Given the description of an element on the screen output the (x, y) to click on. 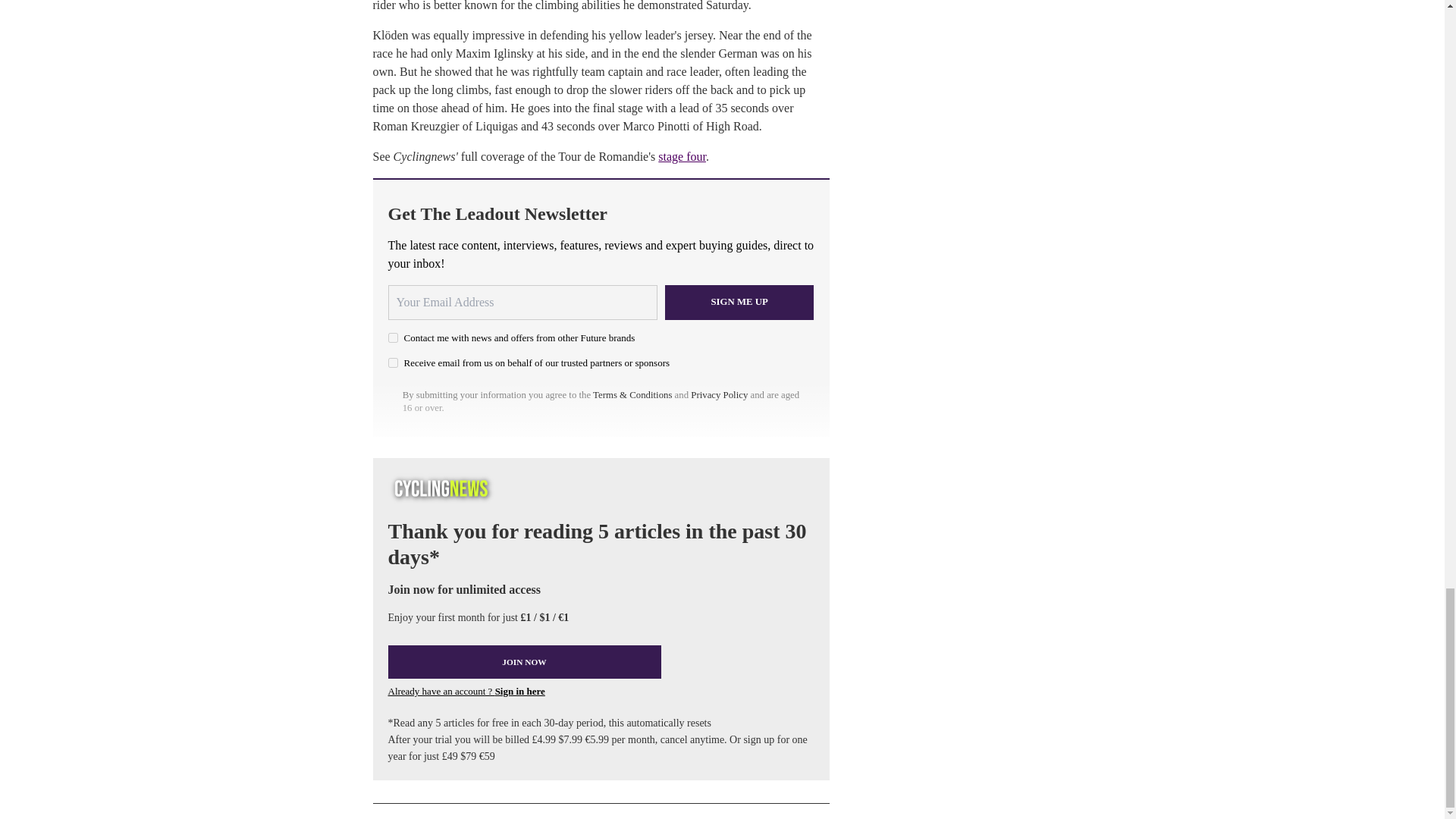
on (392, 362)
Sign me up (739, 302)
on (392, 337)
